Given the description of an element on the screen output the (x, y) to click on. 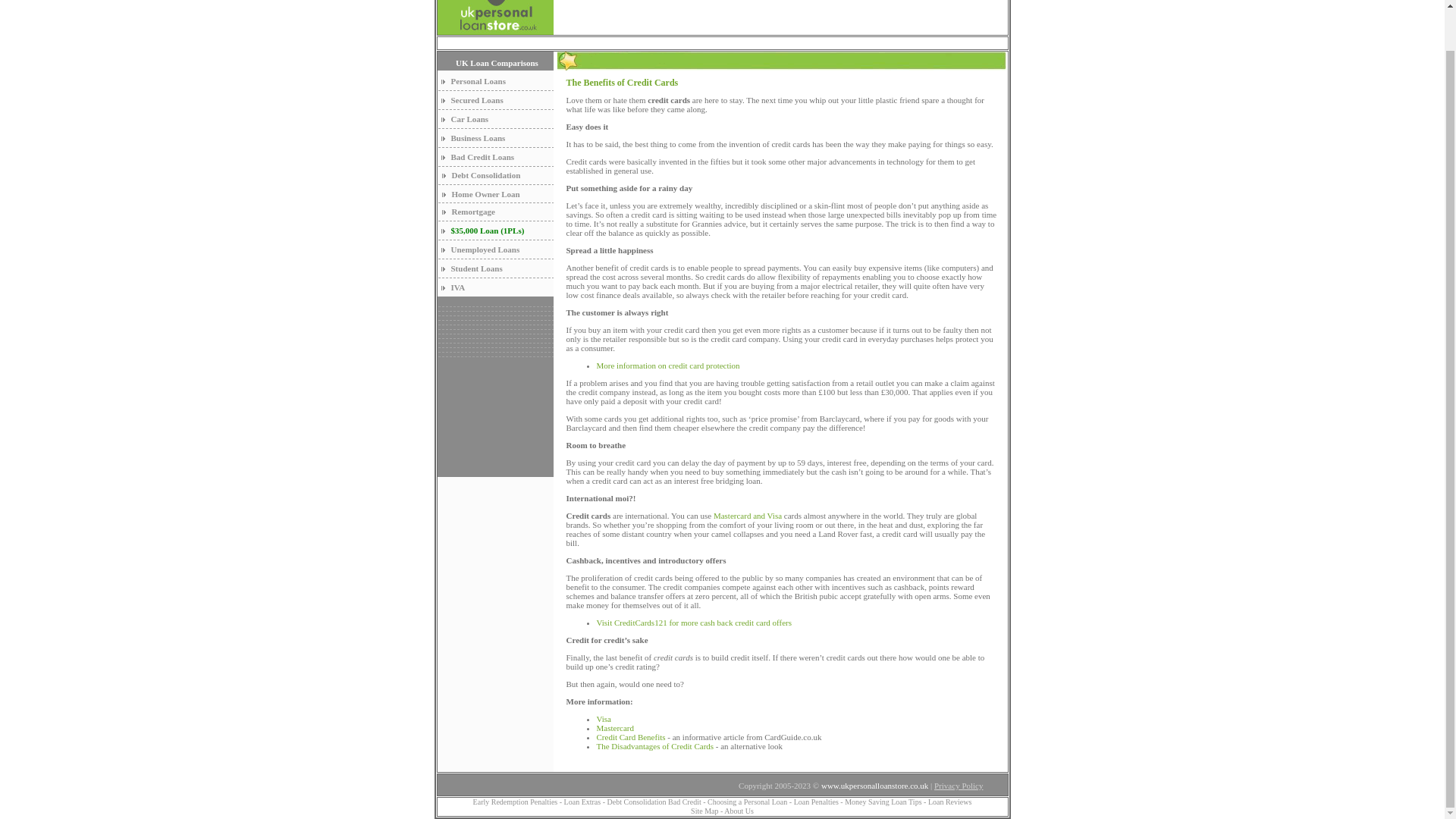
Home Owner Loan (485, 194)
Site Map (703, 810)
About Us (738, 810)
Remortgage (473, 211)
www.ukpersonalloanstore.co.uk (874, 785)
More information on credit card protection (667, 365)
Money Saving Loan Tips (882, 801)
Visa (603, 718)
Early Redemption Penalties (515, 801)
Privacy Policy (958, 785)
